Given the description of an element on the screen output the (x, y) to click on. 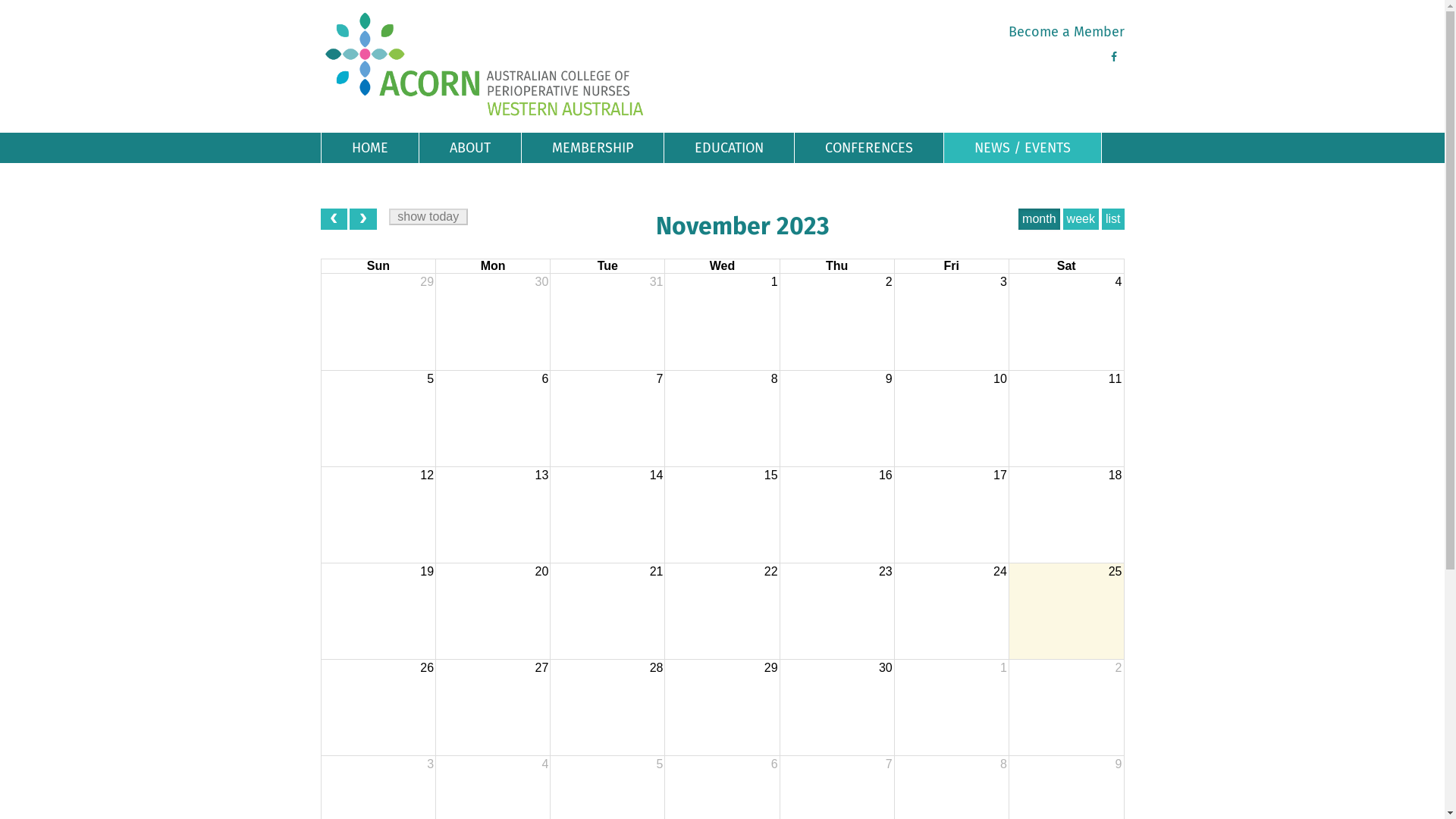
Facebook Element type: hover (1113, 56)
MEMBERSHIP Element type: text (592, 147)
ACORN Western Australia Element type: text (484, 63)
show today Element type: text (428, 216)
CONFERENCES Element type: text (868, 147)
month Element type: text (1038, 218)
EDUCATION Element type: text (728, 147)
list Element type: text (1112, 218)
ABOUT Element type: text (469, 147)
NEWS / EVENTS Element type: text (1021, 147)
week Element type: text (1080, 218)
Become a Member Element type: text (1066, 31)
HOME Element type: text (369, 147)
